Given the description of an element on the screen output the (x, y) to click on. 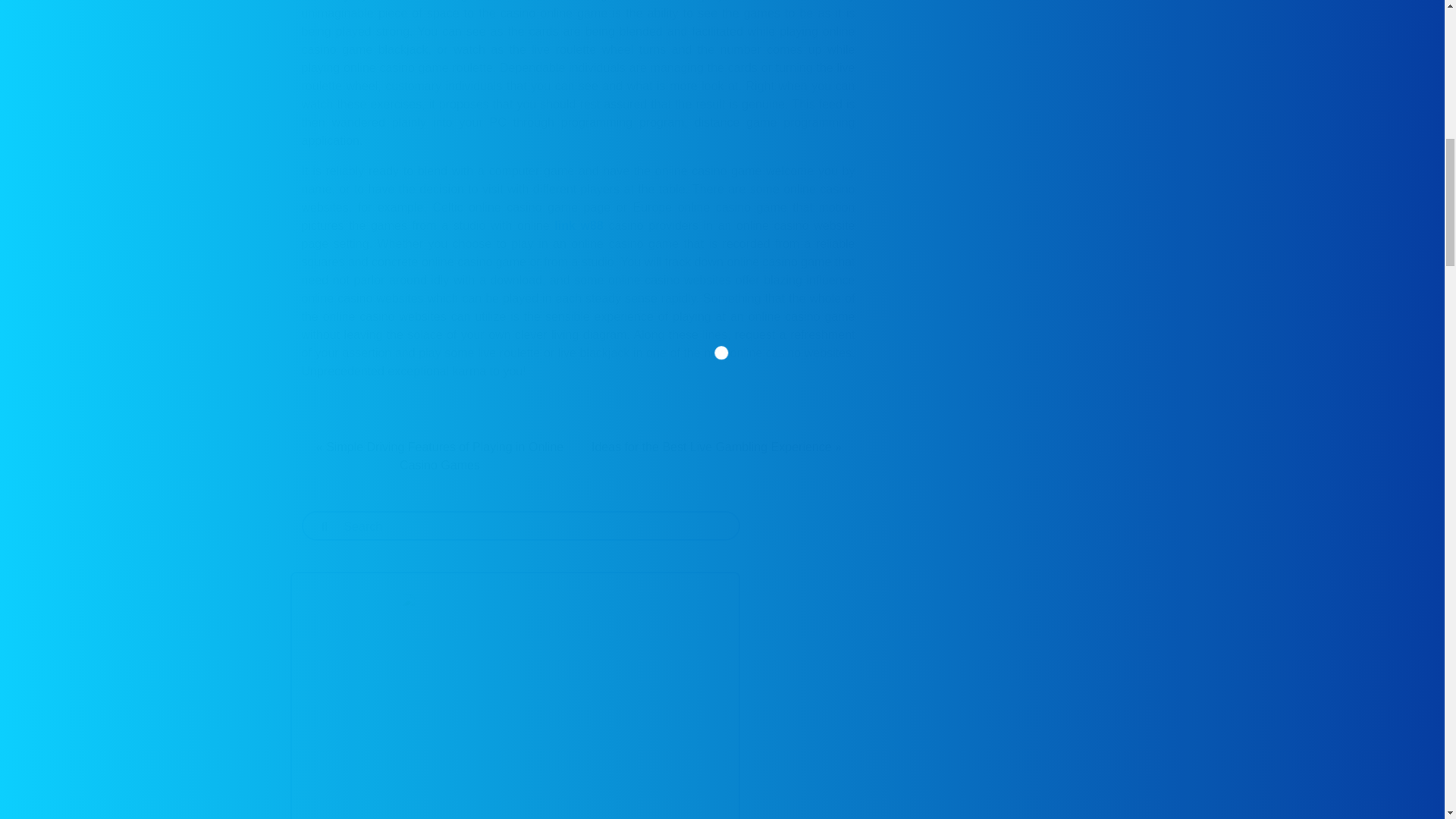
Simple Driving Features of Playing in Online Casino Games (444, 455)
link w88 (578, 225)
Ideas for the Best Live Gambling Experience (711, 446)
